Given the description of an element on the screen output the (x, y) to click on. 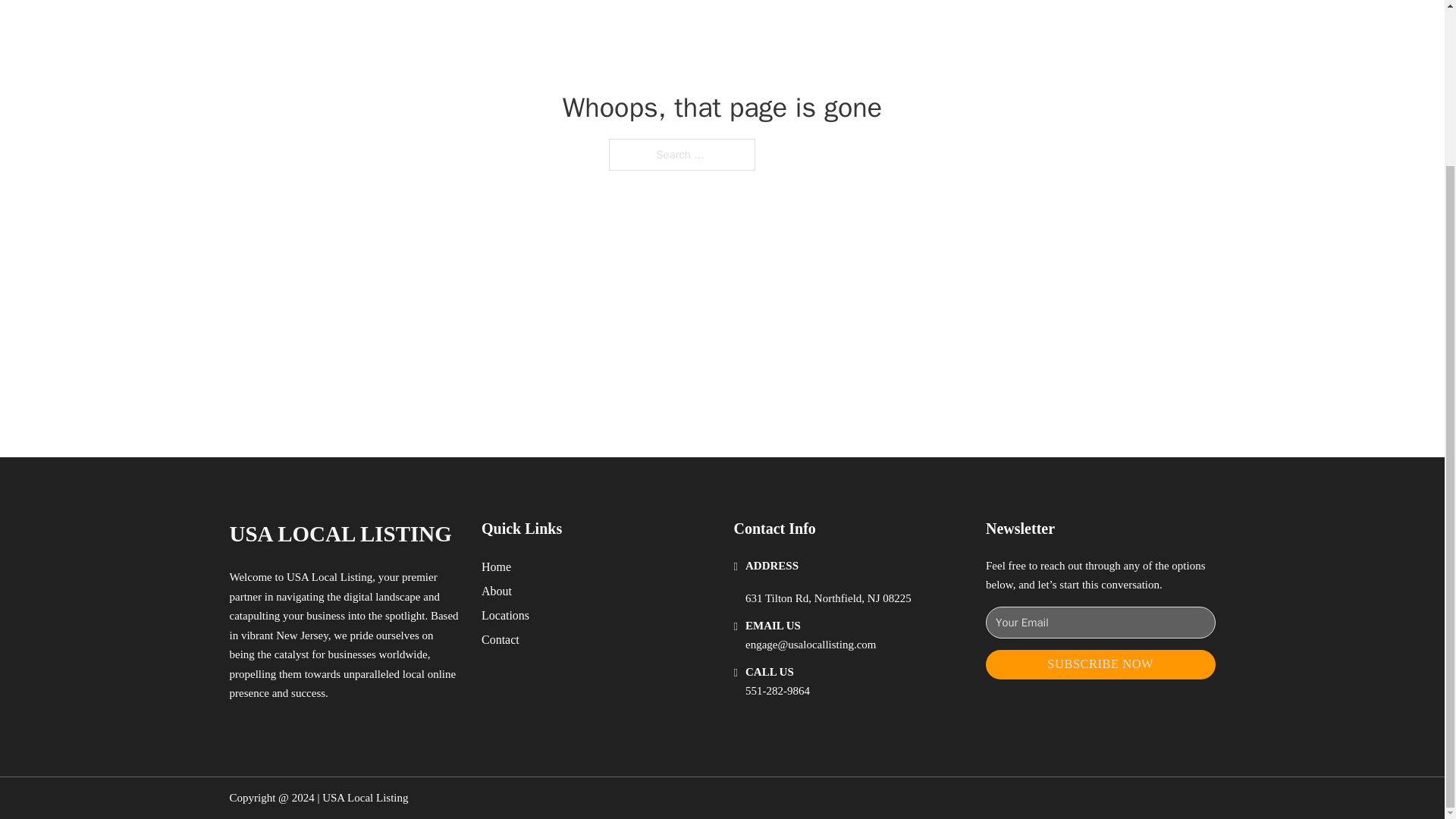
Home (496, 566)
About (496, 590)
551-282-9864 (777, 690)
SUBSCRIBE NOW (1100, 664)
Contact (500, 639)
Locations (505, 615)
USA LOCAL LISTING (339, 533)
